Given the description of an element on the screen output the (x, y) to click on. 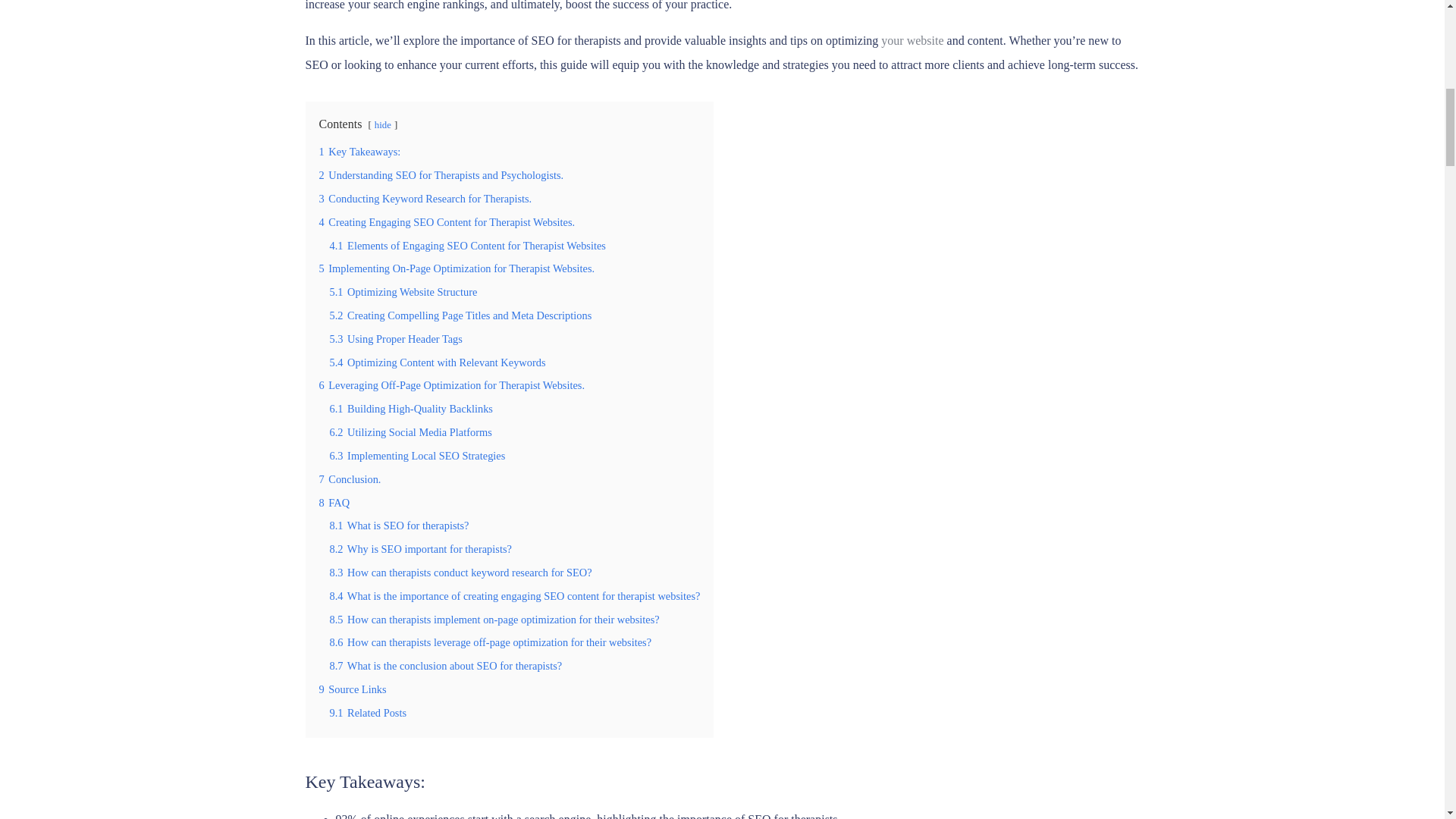
hide (382, 124)
4 Creating Engaging SEO Content for Therapist Websites. (446, 222)
5.2 Creating Compelling Page Titles and Meta Descriptions (460, 315)
your website (911, 40)
5 Implementing On-Page Optimization for Therapist Websites. (456, 268)
5.4 Optimizing Content with Relevant Keywords (436, 362)
6.2 Utilizing Social Media Platforms (410, 431)
1 Key Takeaways: (359, 151)
2 Understanding SEO for Therapists and Psychologists. (440, 174)
5.3 Using Proper Header Tags (395, 338)
